Given the description of an element on the screen output the (x, y) to click on. 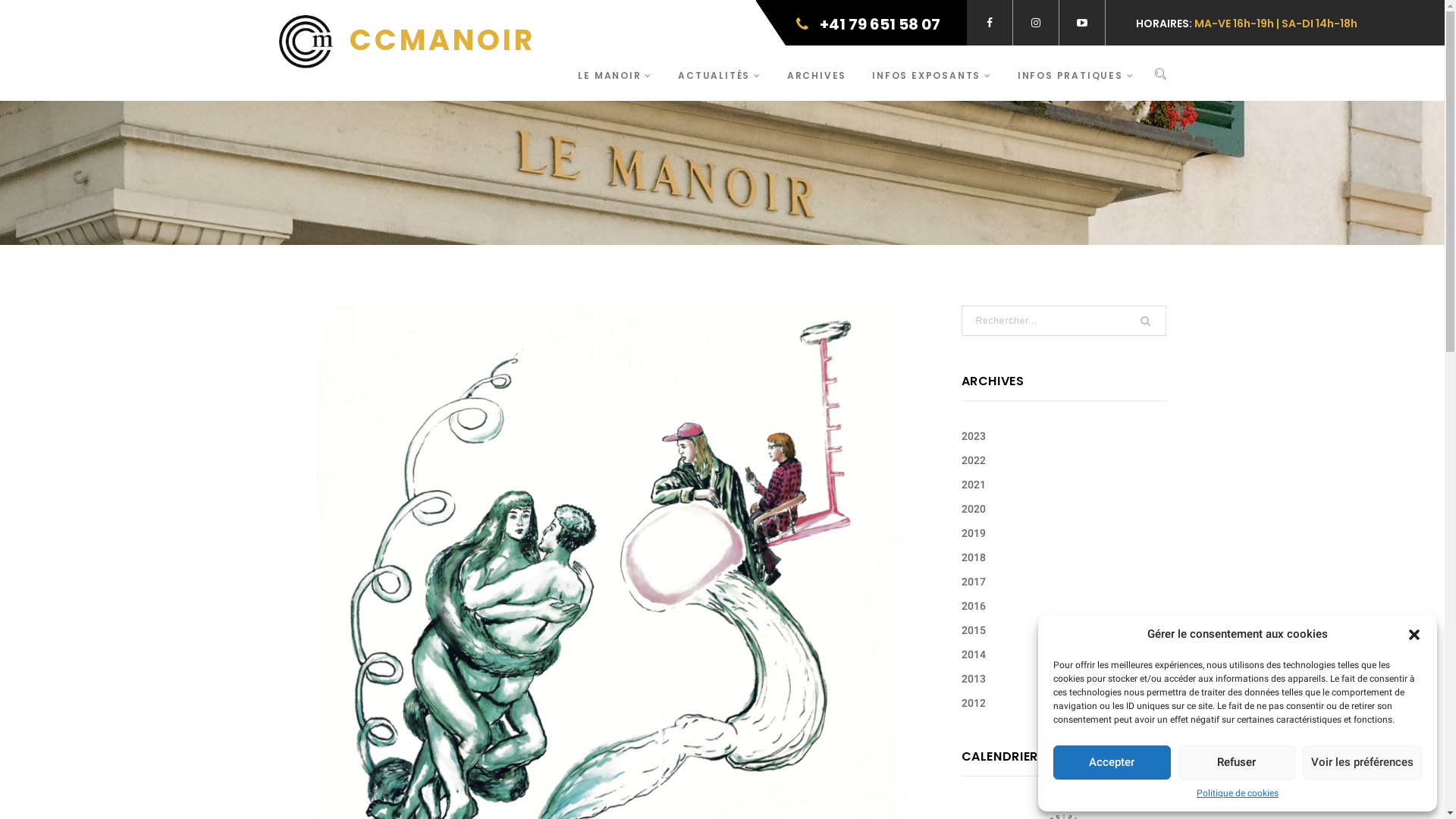
INFOS EXPOSANTS Element type: text (931, 72)
2012 Element type: text (973, 702)
2019 Element type: text (973, 533)
Politique de cookies Element type: text (1237, 793)
2020 Element type: text (973, 508)
Accepter Element type: text (1111, 762)
Search Element type: hover (1159, 74)
ARCHIVES Element type: text (816, 72)
2017 Element type: text (973, 581)
2016 Element type: text (973, 605)
CCMANOIR Element type: text (407, 41)
LE MANOIR Element type: text (614, 72)
2013 Element type: text (973, 678)
2023 Element type: text (973, 435)
2021 Element type: text (973, 484)
2022 Element type: text (973, 460)
+41 79 651 58 07 Element type: text (861, 21)
Refuser Element type: text (1236, 762)
INFOS PRATIQUES Element type: text (1075, 72)
2018 Element type: text (973, 557)
2014 Element type: text (973, 654)
2015 Element type: text (973, 630)
